Given the description of an element on the screen output the (x, y) to click on. 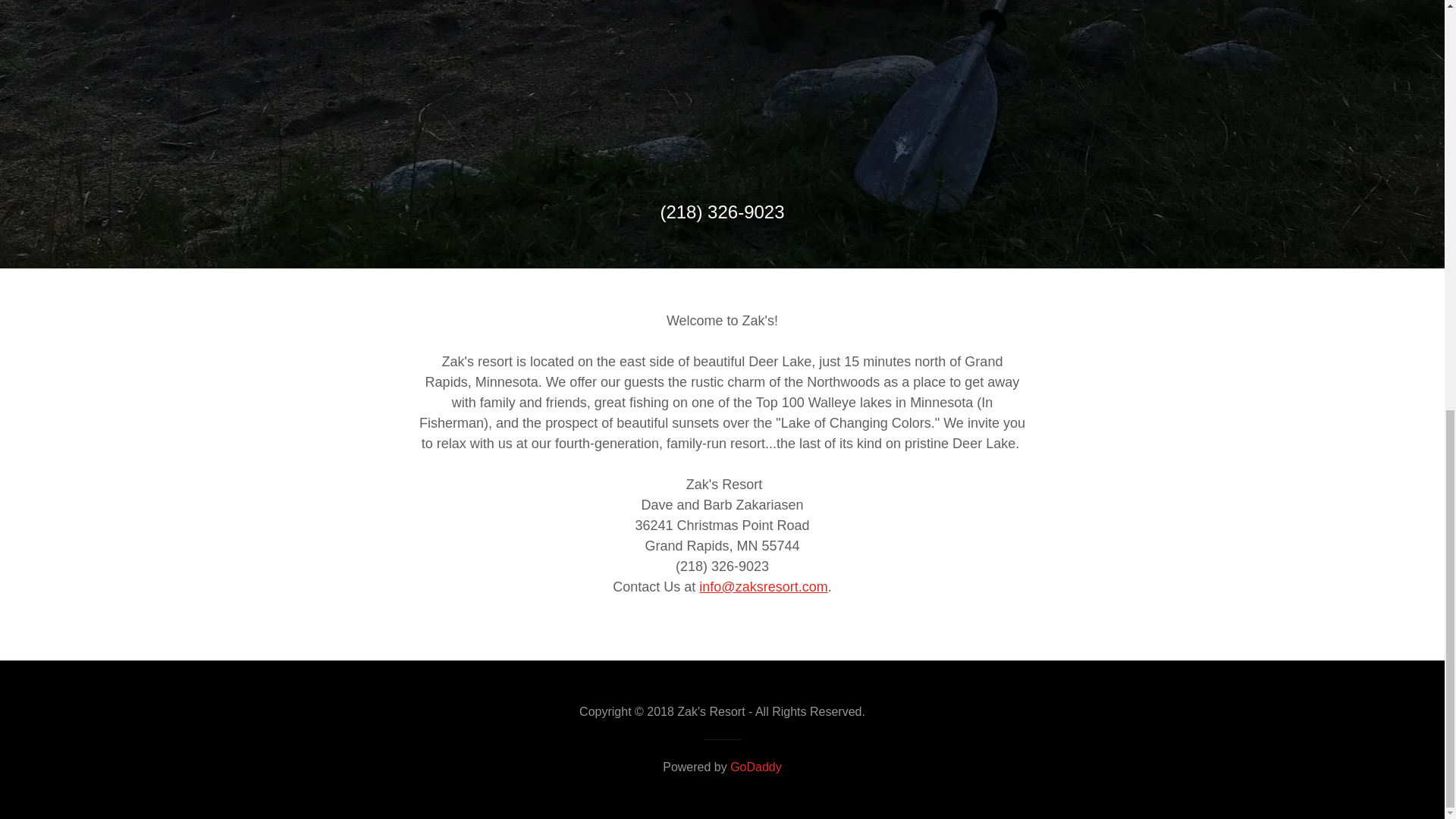
GoDaddy (755, 766)
